Given the description of an element on the screen output the (x, y) to click on. 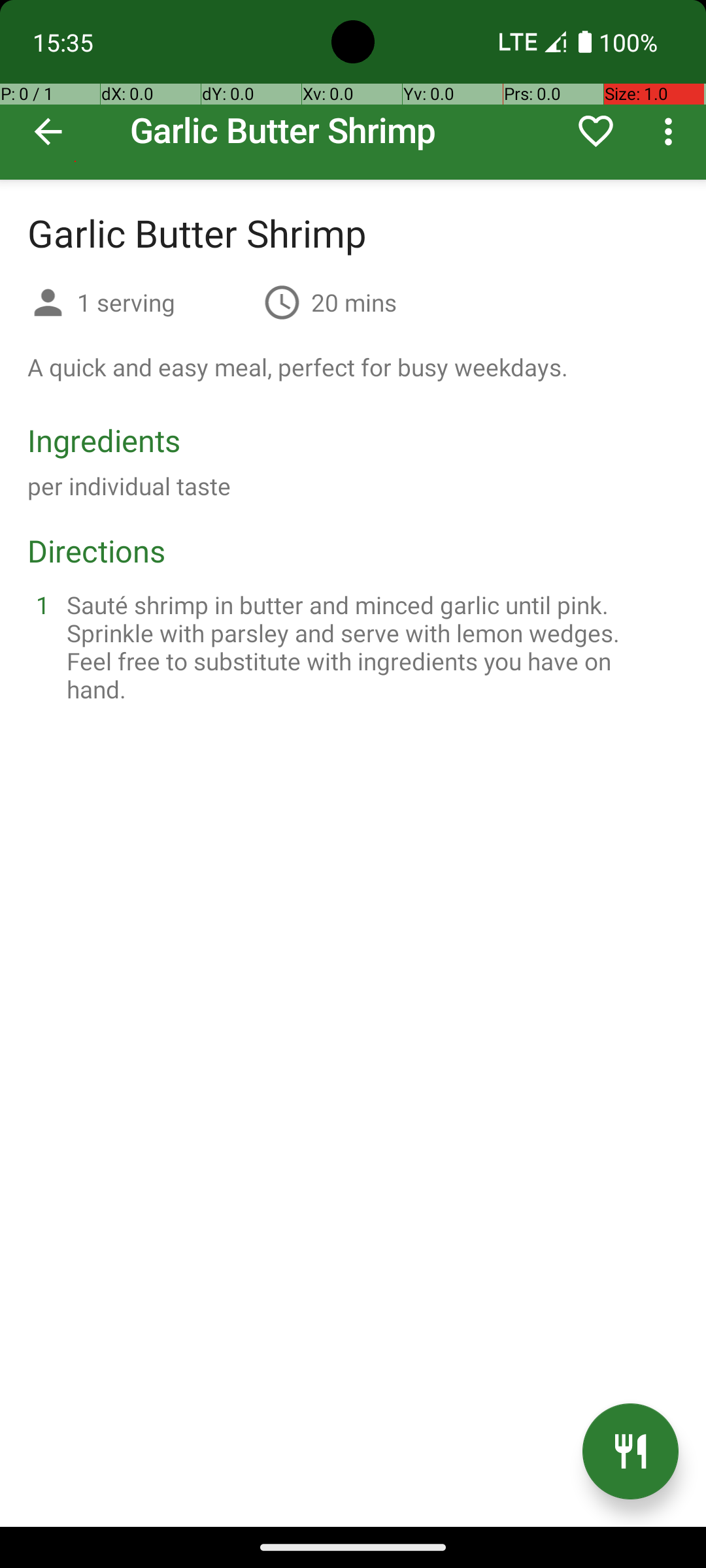
Garlic Butter Shrimp Element type: android.widget.FrameLayout (353, 89)
per individual taste Element type: android.widget.TextView (128, 485)
Sauté shrimp in butter and minced garlic until pink. Sprinkle with parsley and serve with lemon wedges. Feel free to substitute with ingredients you have on hand. Element type: android.widget.TextView (368, 646)
